Given the description of an element on the screen output the (x, y) to click on. 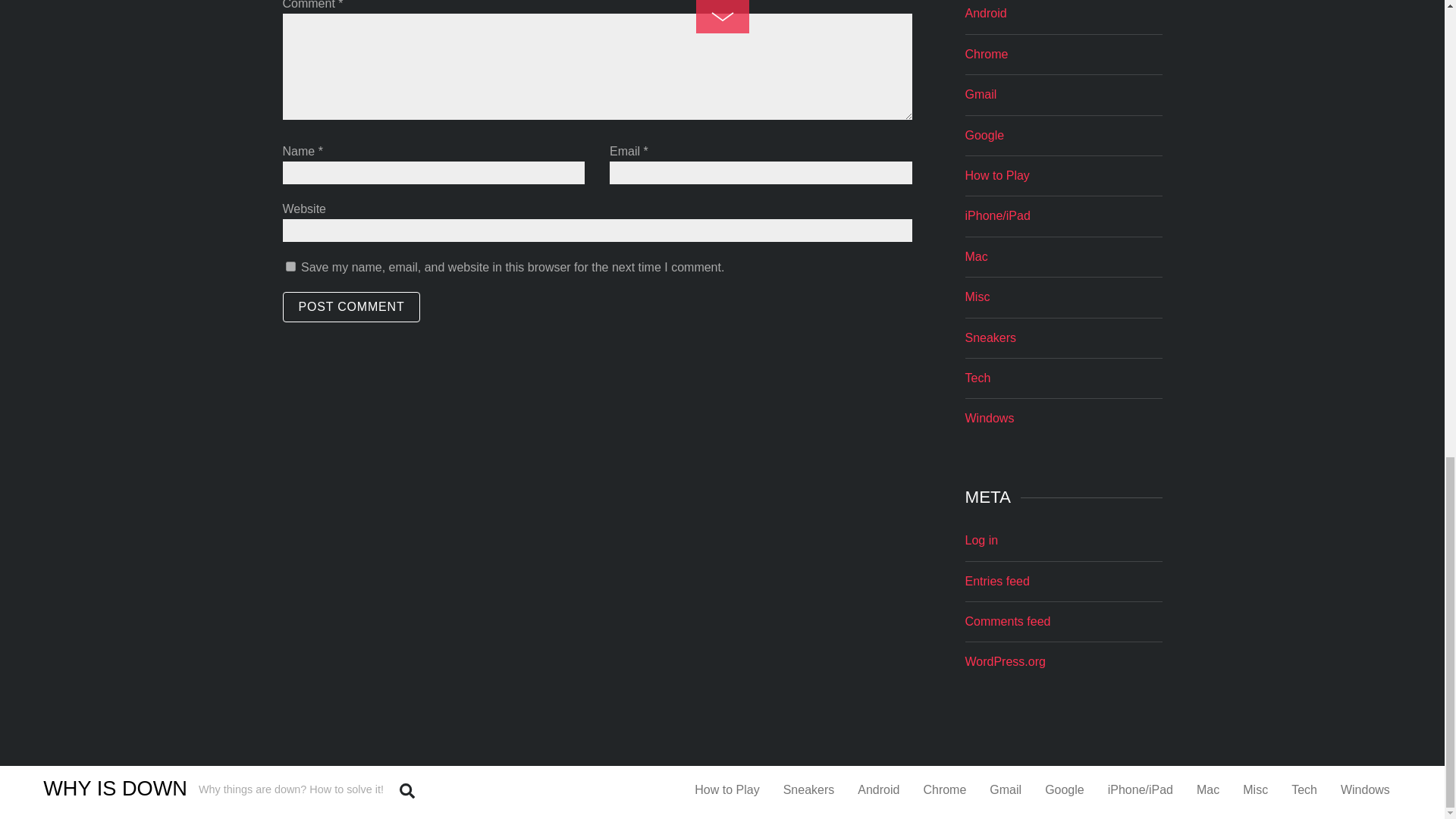
Post Comment (351, 306)
yes (290, 266)
Chrome (985, 53)
Gmail (979, 93)
Post Comment (351, 306)
Android (984, 12)
